Given the description of an element on the screen output the (x, y) to click on. 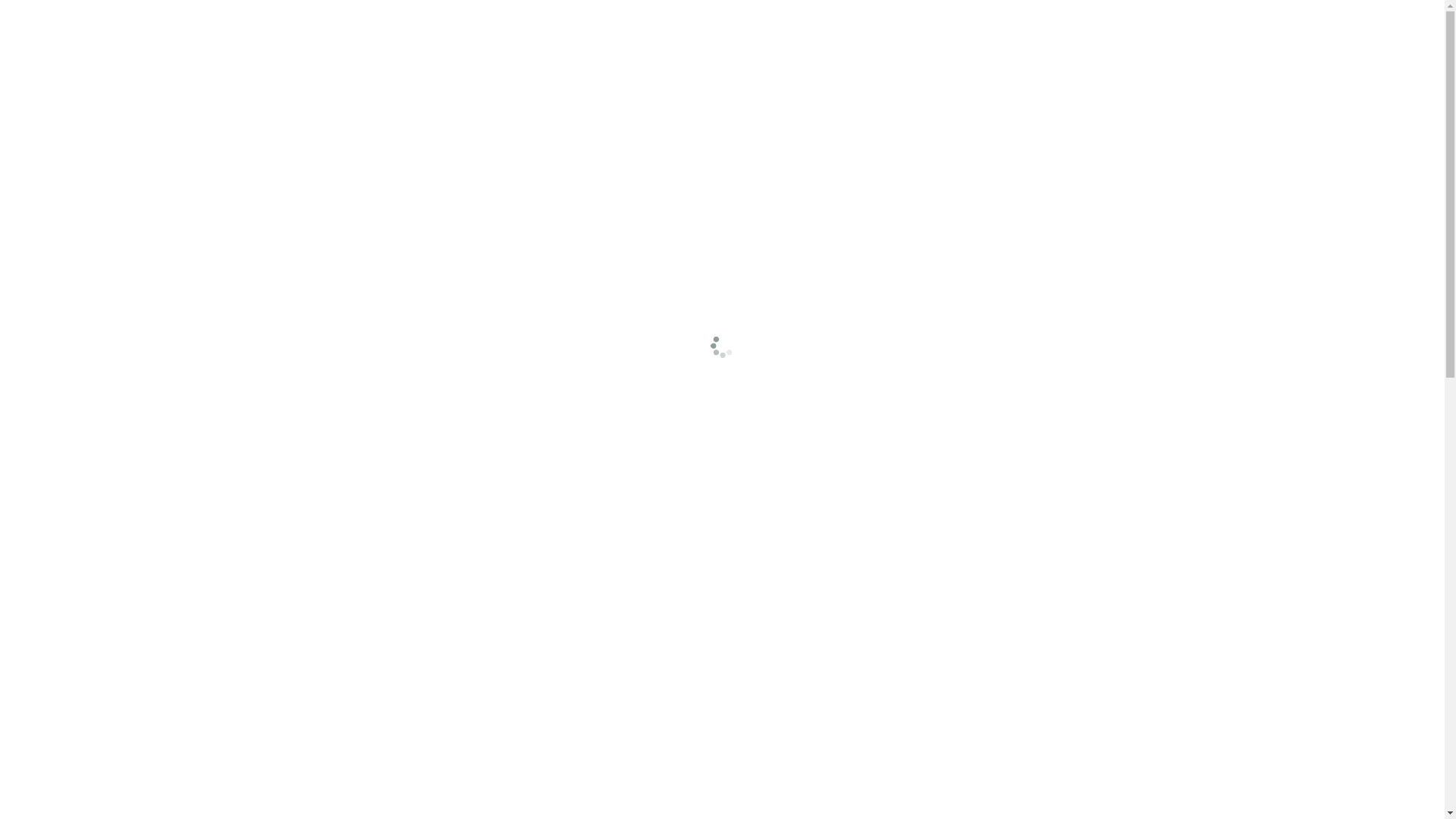
HOME Element type: text (294, 374)
0 Element type: text (1154, 58)
X Element type: text (1416, 421)
INDUSTRIAL PRODUCTS Element type: text (374, 374)
MEDICAL Element type: text (736, 109)
INDUSTRIAL Element type: text (518, 109)
NEWS Element type: text (909, 109)
Create Account Element type: text (1117, 15)
Log In Element type: text (1049, 15)
LED-6 Machine Lamp (Short Arm, 12-18V AC/DC) Element type: hover (456, 706)
SEARCH Element type: text (1107, 58)
CONTACT US Element type: text (989, 109)
LABORATORY Element type: text (631, 109)
HOME Element type: text (434, 109)
Call 1300 788 239 Element type: text (333, 15)
ABOUT US Element type: text (831, 109)
